Given the description of an element on the screen output the (x, y) to click on. 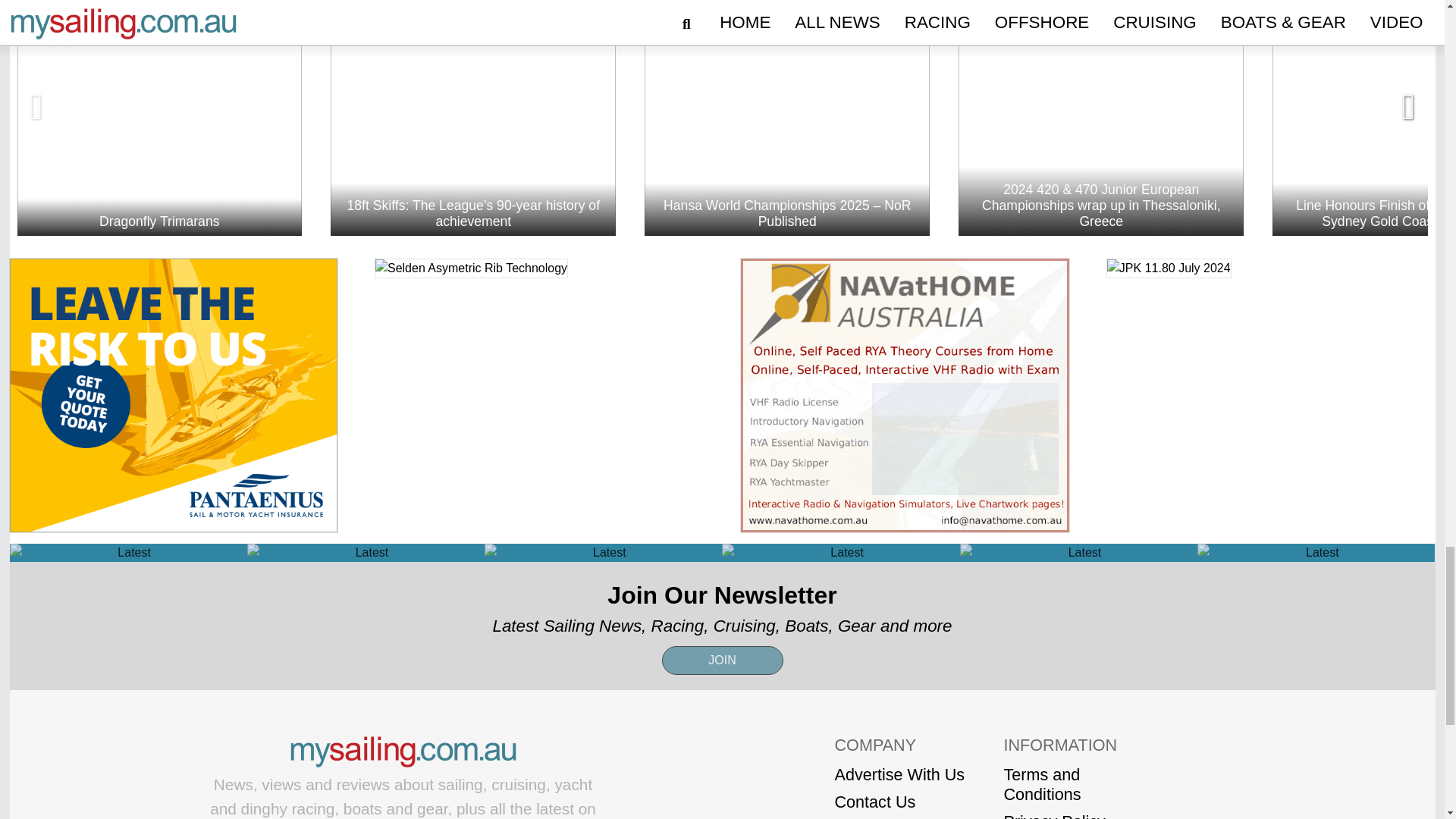
Dragonfly Trimarans (158, 117)
Contact Us (899, 802)
Advertise With Us (899, 774)
